Given the description of an element on the screen output the (x, y) to click on. 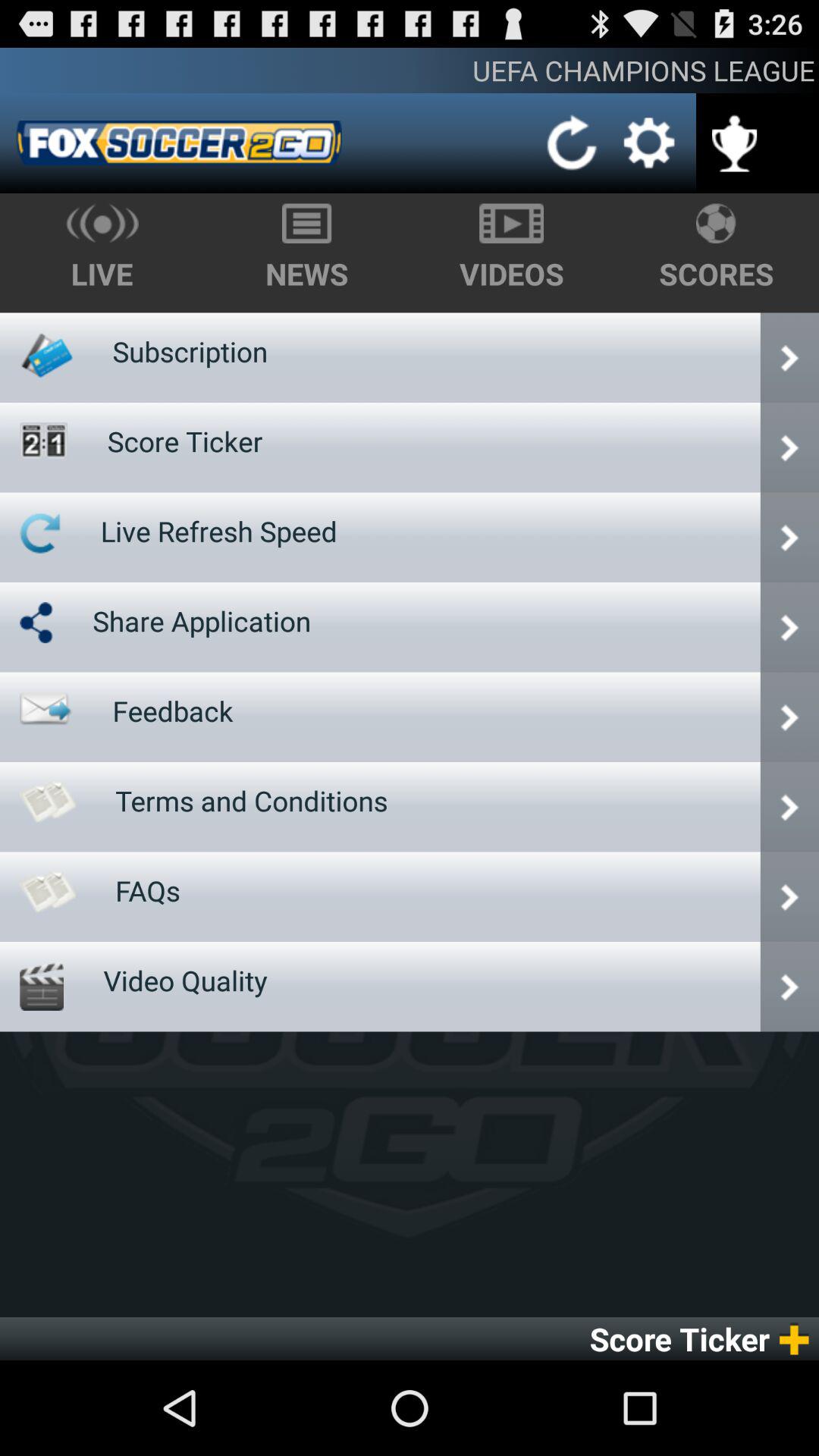
turn off icon above video quality (147, 890)
